Given the description of an element on the screen output the (x, y) to click on. 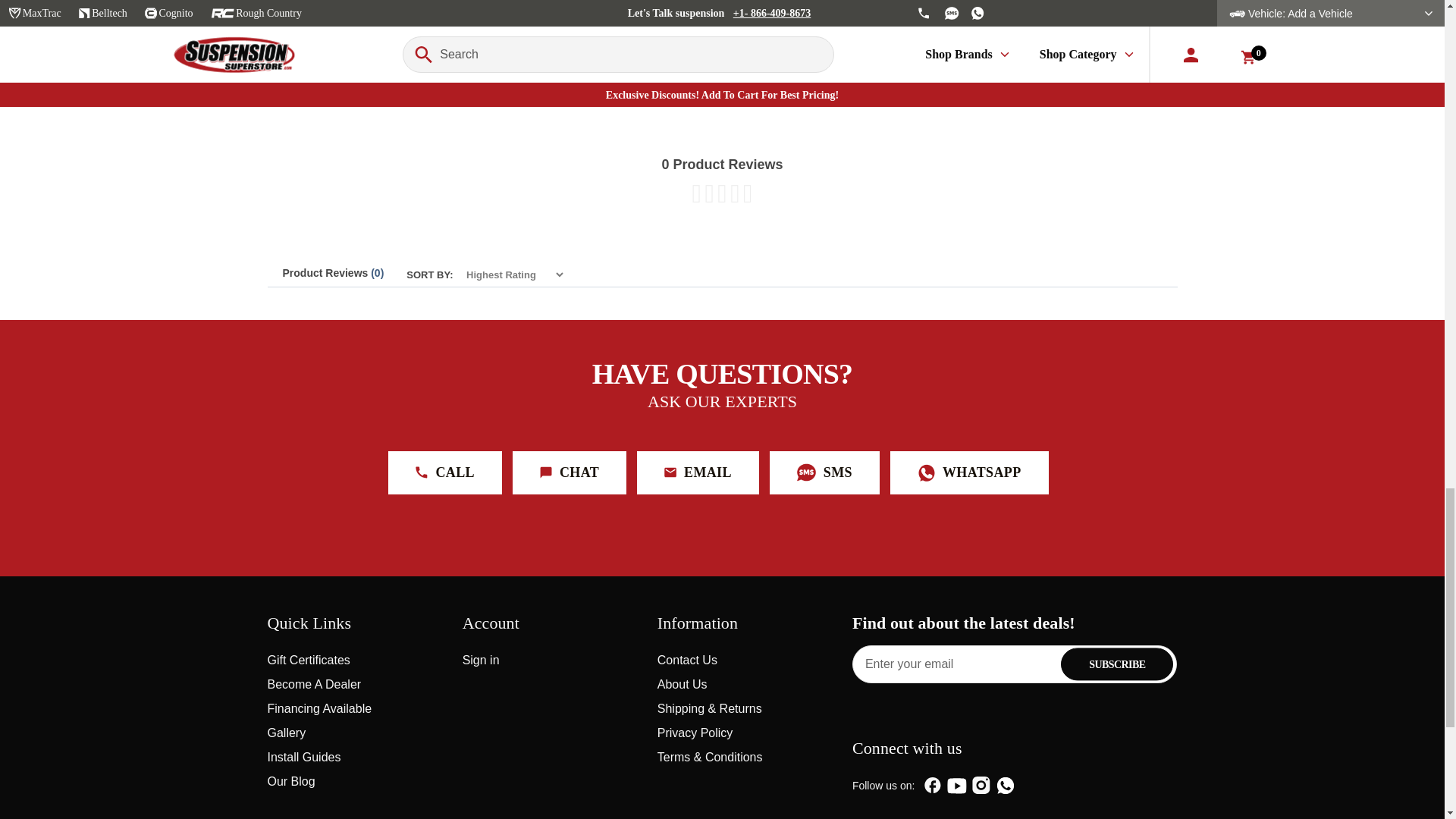
Subscribe (1117, 663)
